Given the description of an element on the screen output the (x, y) to click on. 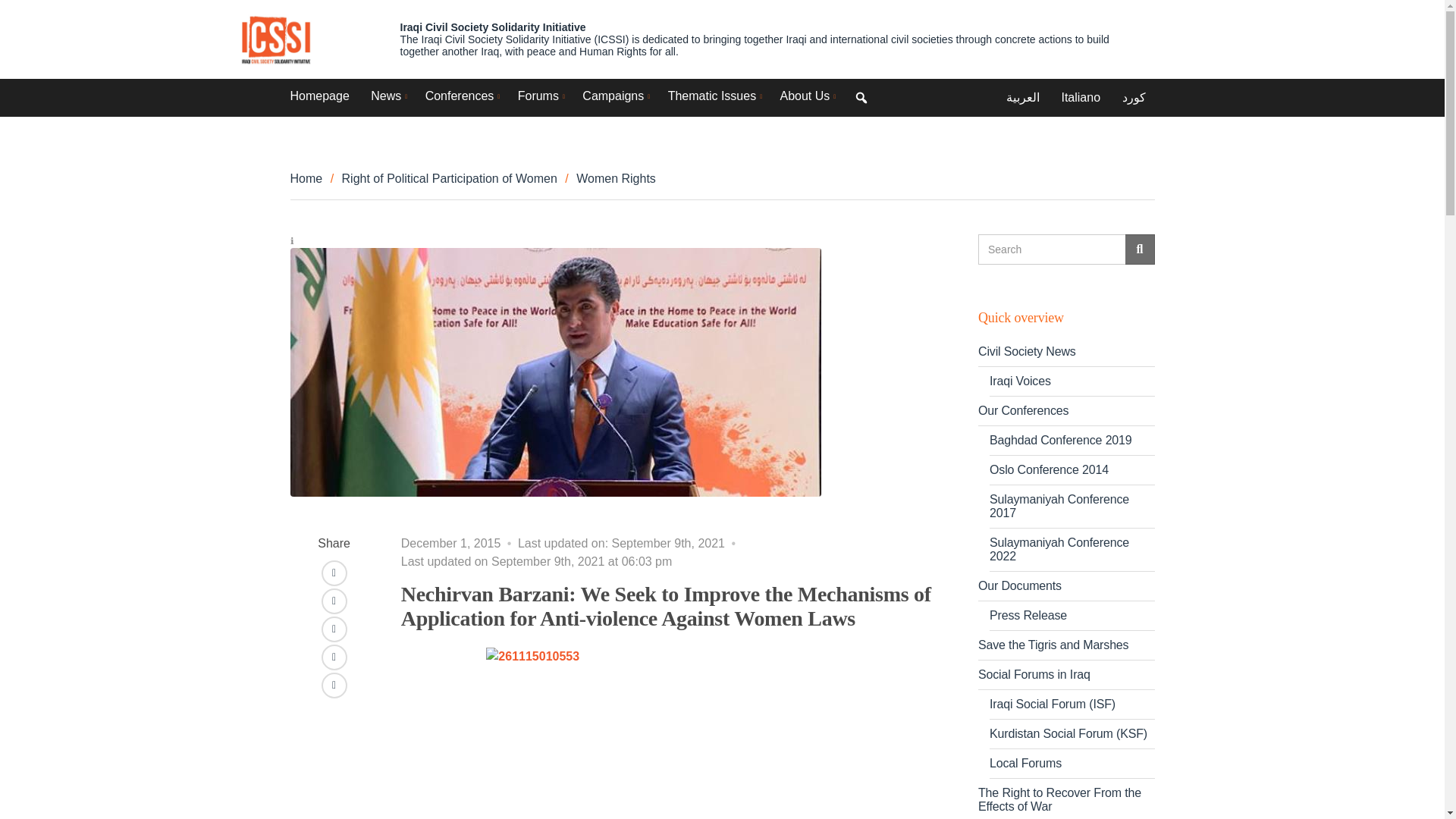
News (387, 95)
Conferences (460, 95)
Forums (539, 95)
Homepage (319, 95)
Campaigns (614, 95)
Thematic Issues (713, 95)
